Given the description of an element on the screen output the (x, y) to click on. 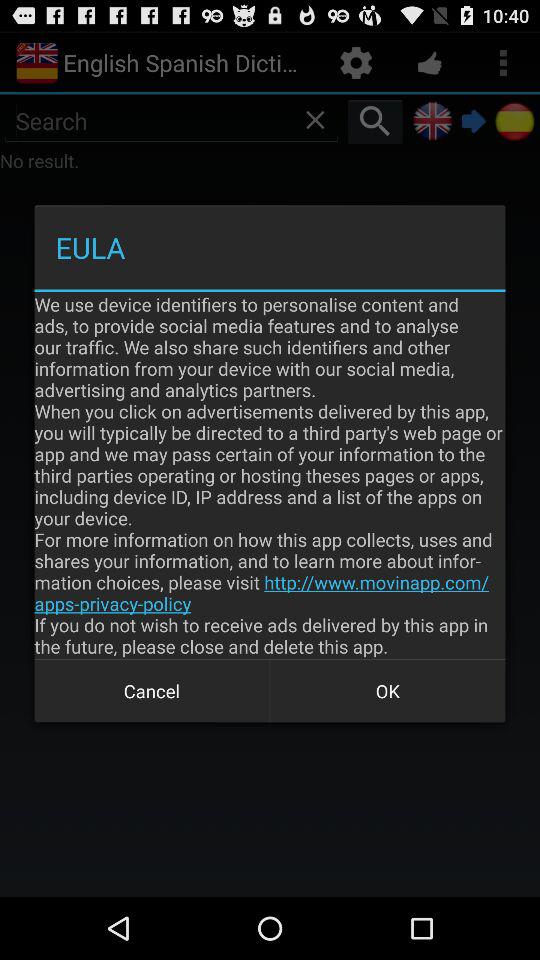
select icon next to the ok item (151, 690)
